Given the description of an element on the screen output the (x, y) to click on. 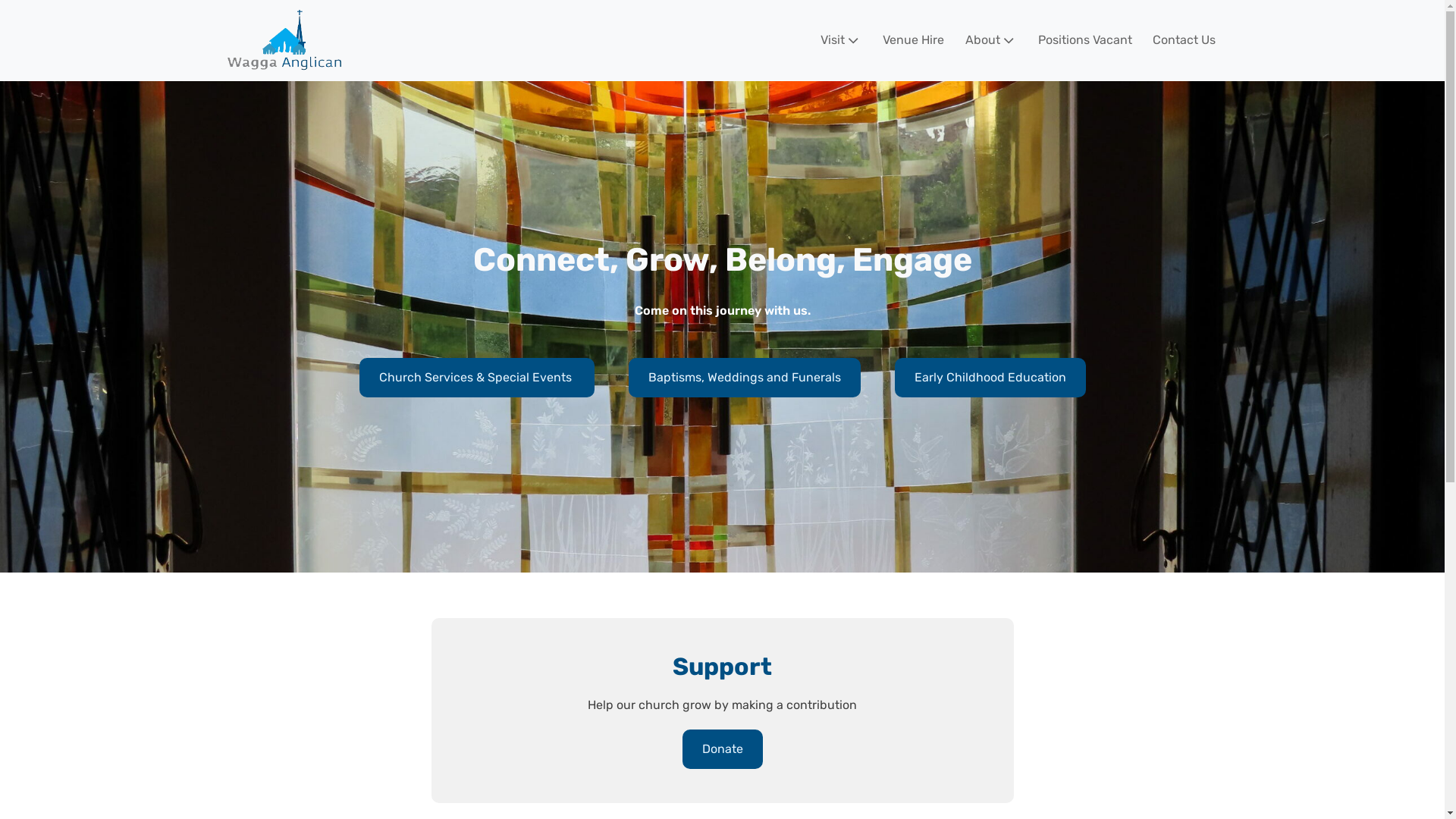
Contact Us Element type: text (1175, 40)
Venue Hire Element type: text (904, 40)
Church Services & Special Events  Element type: text (476, 377)
Visit Element type: text (832, 40)
Donate Element type: text (722, 748)
Early Childhood Education Element type: text (989, 377)
Positions Vacant Element type: text (1076, 40)
Baptisms, Weddings and Funerals Element type: text (743, 377)
About Element type: text (982, 40)
